Given the description of an element on the screen output the (x, y) to click on. 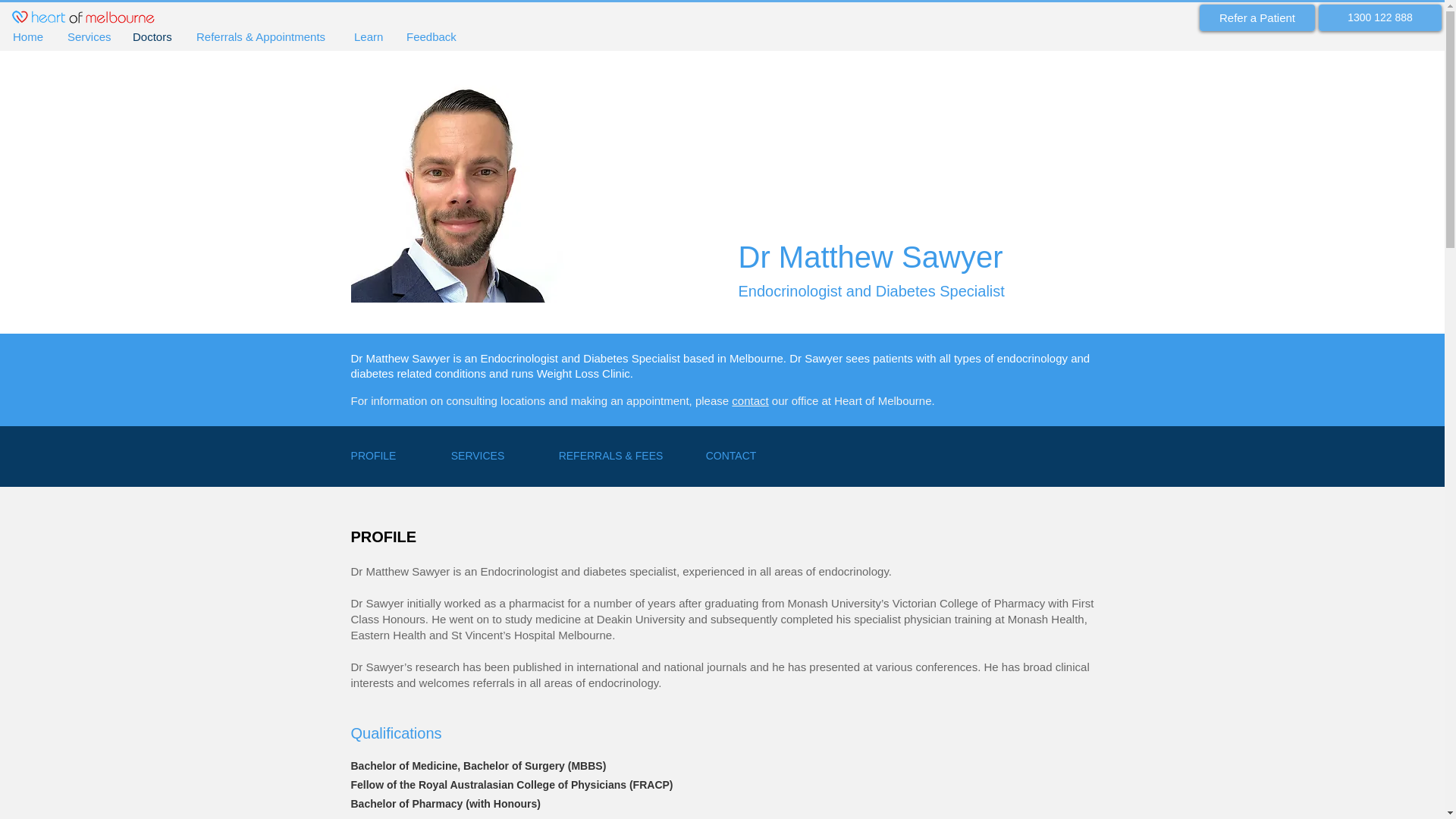
Home (28, 36)
Doctors (152, 36)
Services (88, 36)
